Given the description of an element on the screen output the (x, y) to click on. 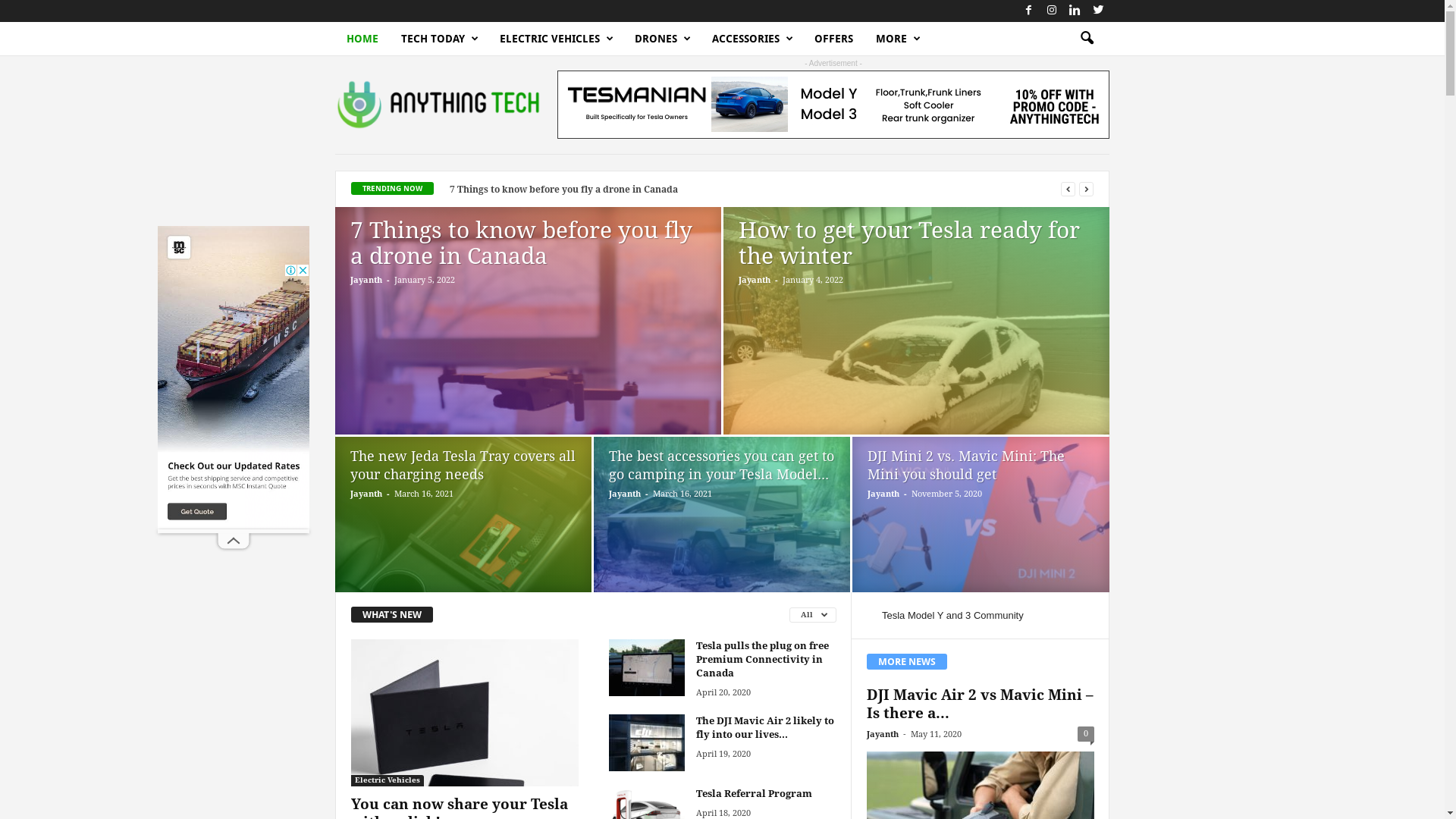
OFFERS Element type: text (833, 38)
Tesla pulls the plug on free Premium Connectivity in Canada Element type: text (762, 659)
You can now share your Tesla with a click! Element type: hover (464, 712)
HOME Element type: text (362, 38)
Jayanth Element type: text (624, 493)
Instagram Element type: hover (1051, 10)
ACCESSORIES Element type: text (751, 38)
How to get your Tesla ready for the winter Element type: text (546, 189)
DJI Mini 2 vs. Mavic Mini: The Mini you should get Element type: hover (980, 519)
Tesla Referral Program Element type: text (754, 793)
Jayanth Element type: text (882, 734)
7 Things to know before you fly a drone in Canada Element type: text (521, 242)
Jayanth Element type: text (366, 493)
Anything Tech Element type: hover (438, 104)
The DJI Mavic Air 2 likely to fly into our lives next week Element type: hover (646, 742)
DRONES Element type: text (661, 38)
How to get your Tesla ready for the winter Element type: hover (916, 357)
Jayanth Element type: text (754, 280)
7 Things to know before you fly a drone in Canada Element type: hover (528, 357)
Electric Vehicles Element type: text (387, 780)
TECH TODAY Element type: text (438, 38)
0 Element type: text (1085, 733)
Linkedin Element type: hover (1074, 10)
Jayanth Element type: text (366, 280)
DJI Mini 2 vs. Mavic Mini: The Mini you should get Element type: text (965, 465)
Jayanth Element type: text (883, 493)
Advertisement Element type: hover (233, 377)
How to get your Tesla ready for the winter Element type: text (908, 242)
Twitter Element type: hover (1097, 10)
MORE Element type: text (897, 38)
The new Jeda Tesla Tray covers all your charging needs Element type: text (462, 465)
The DJI Mavic Air 2 likely to fly into our lives... Element type: text (765, 727)
Tesla pulls the plug on free Premium Connectivity in Canada Element type: hover (646, 667)
The new Jeda Tesla Tray covers all your charging needs Element type: hover (463, 519)
Anything Tech Element type: text (438, 104)
ELECTRIC VEHICLES Element type: text (555, 38)
Facebook Element type: hover (1028, 10)
